Given the description of an element on the screen output the (x, y) to click on. 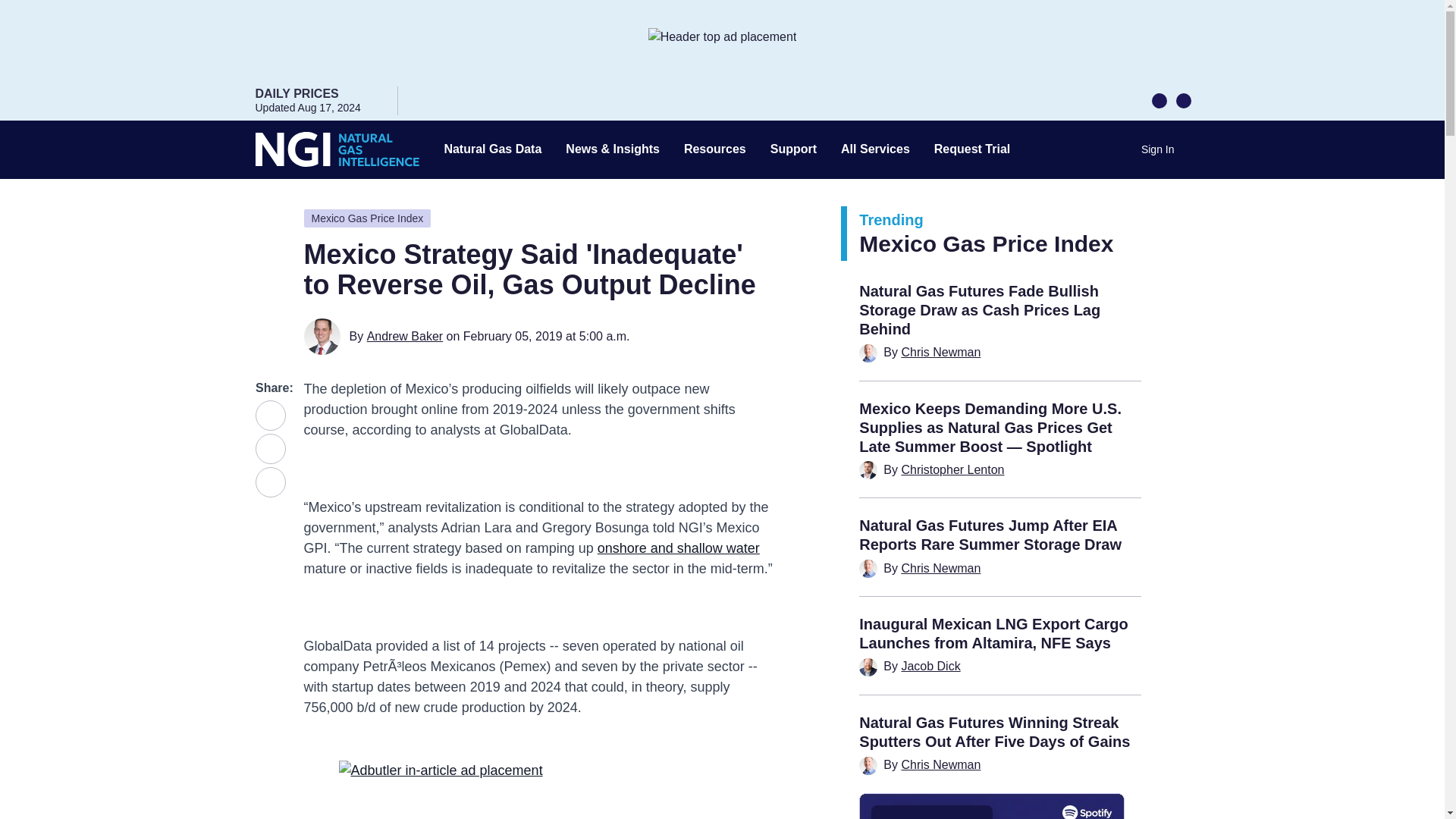
Natural Gas Data (492, 149)
Scroll Left (1158, 99)
Scroll Right (1182, 99)
